Given the description of an element on the screen output the (x, y) to click on. 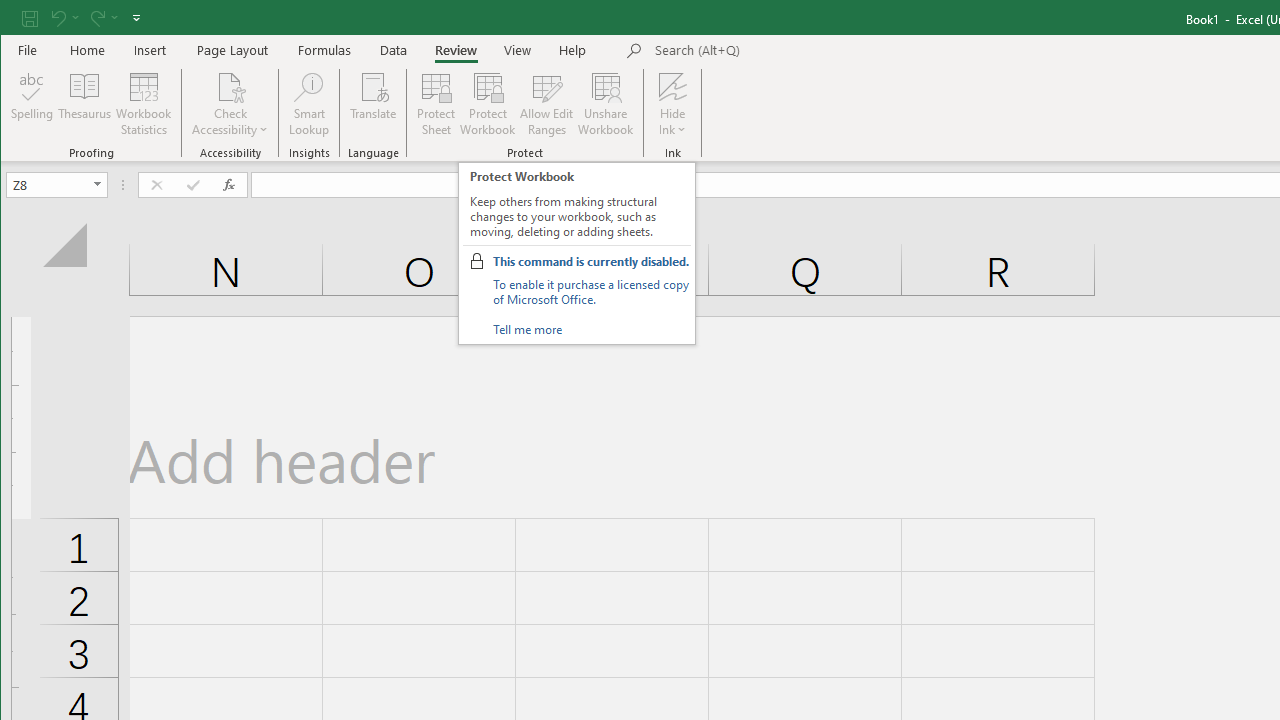
Spelling... (32, 104)
This command is currently disabled. (591, 261)
Save (29, 17)
Unshare Workbook (606, 104)
Hide Ink (672, 104)
Check Accessibility (230, 86)
Home (87, 50)
Quick Access Toolbar (83, 17)
Check Accessibility (230, 104)
Protect Workbook... (488, 104)
Hide Ink (672, 86)
